Given the description of an element on the screen output the (x, y) to click on. 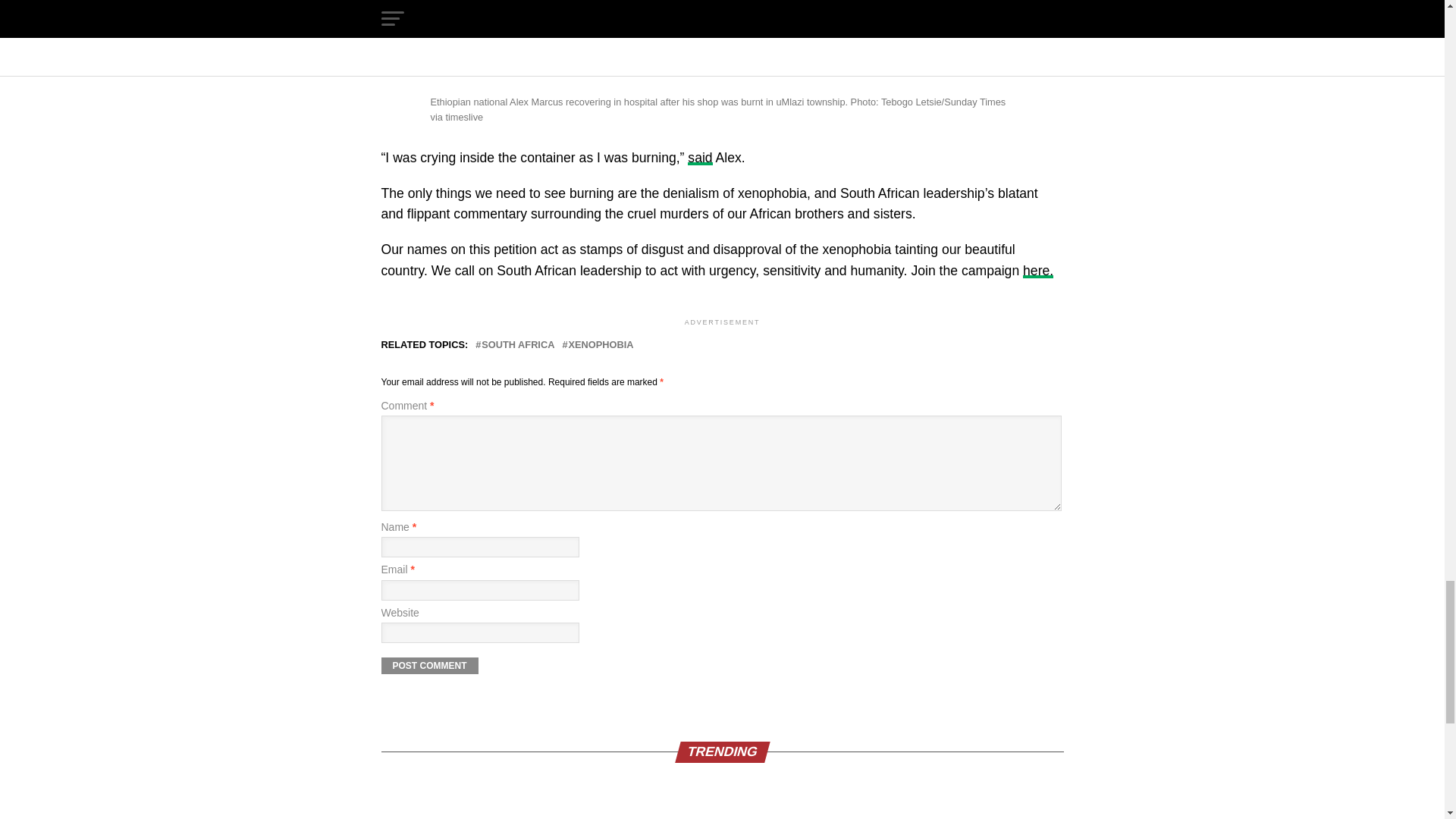
Post Comment (428, 665)
here. (1037, 270)
Post Comment (428, 665)
SOUTH AFRICA (517, 345)
XENOPHOBIA (600, 345)
said (699, 157)
